Given the description of an element on the screen output the (x, y) to click on. 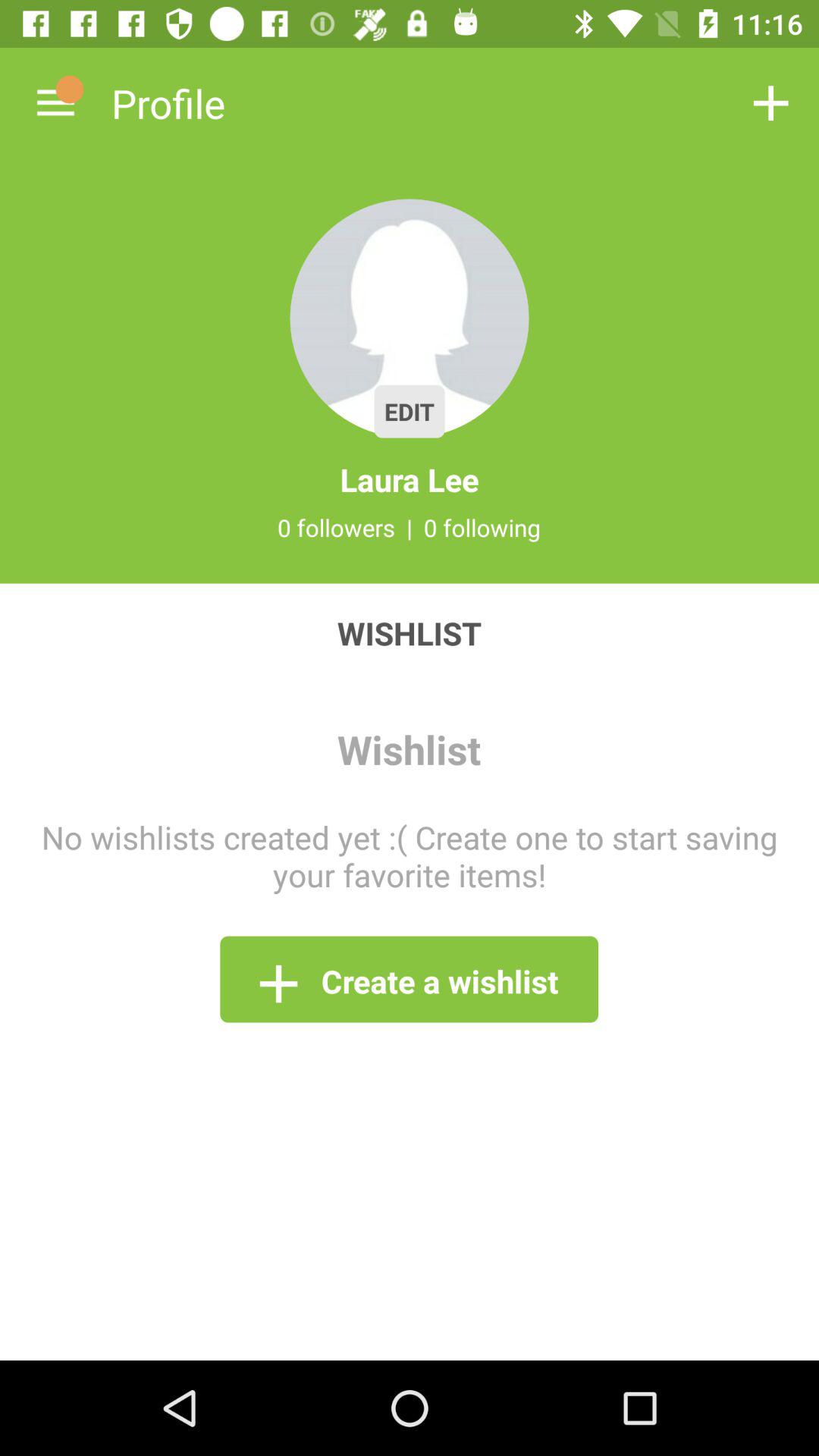
tap the icon above laura lee icon (409, 318)
